Given the description of an element on the screen output the (x, y) to click on. 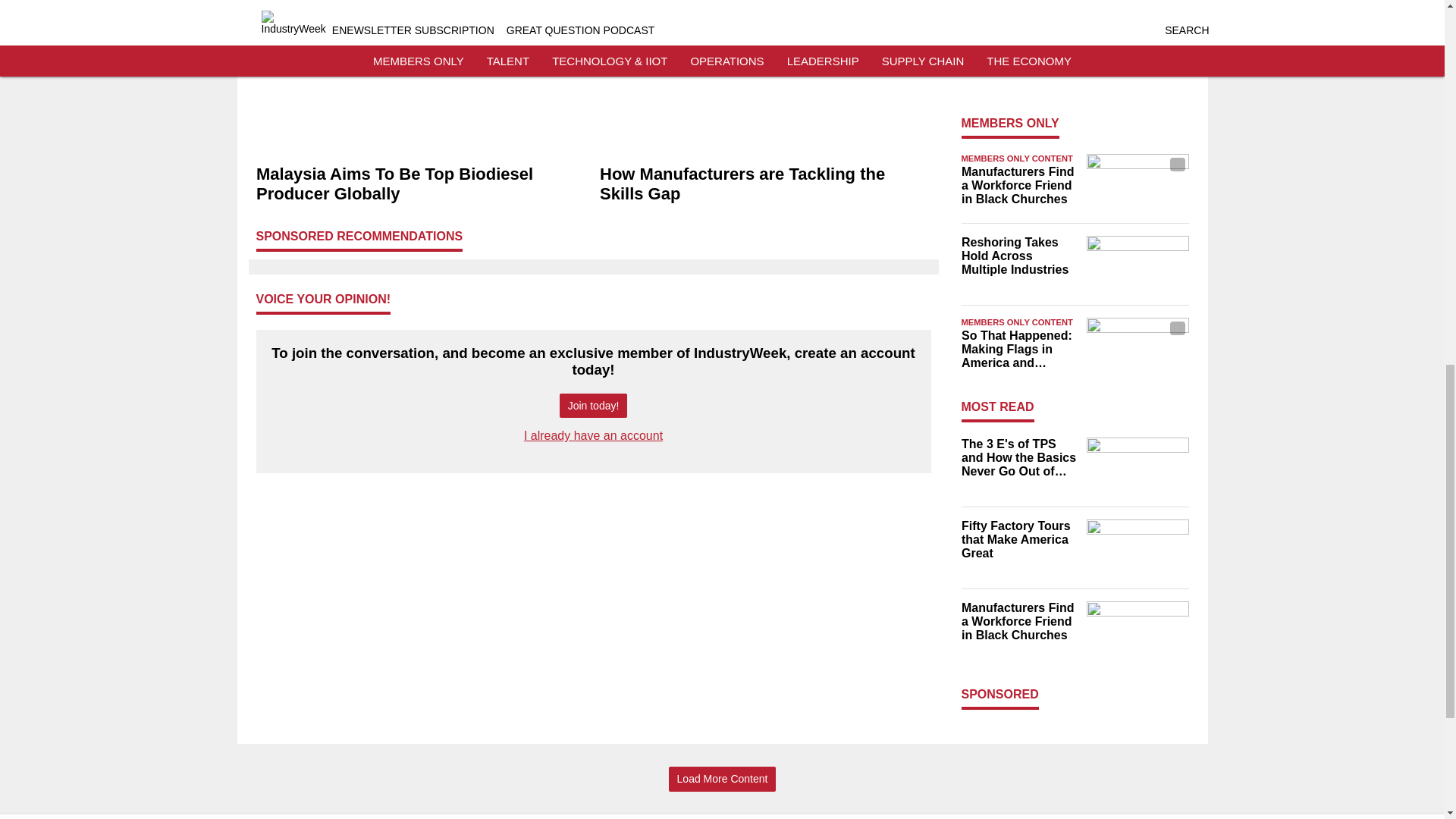
MEMBERS ONLY (1009, 123)
How Manufacturers are Tackling the Skills Gap (764, 183)
The 3 E's of TPS and How the Basics Never Go Out of Style (1019, 457)
Join today! (593, 405)
Malaysia Aims To Be Top Biodiesel Producer Globally (422, 183)
I already have an account (593, 435)
Reshoring Takes Hold Across Multiple Industries (1019, 255)
Manufacturers Find a Workforce Friend in Black Churches (1019, 185)
